Given the description of an element on the screen output the (x, y) to click on. 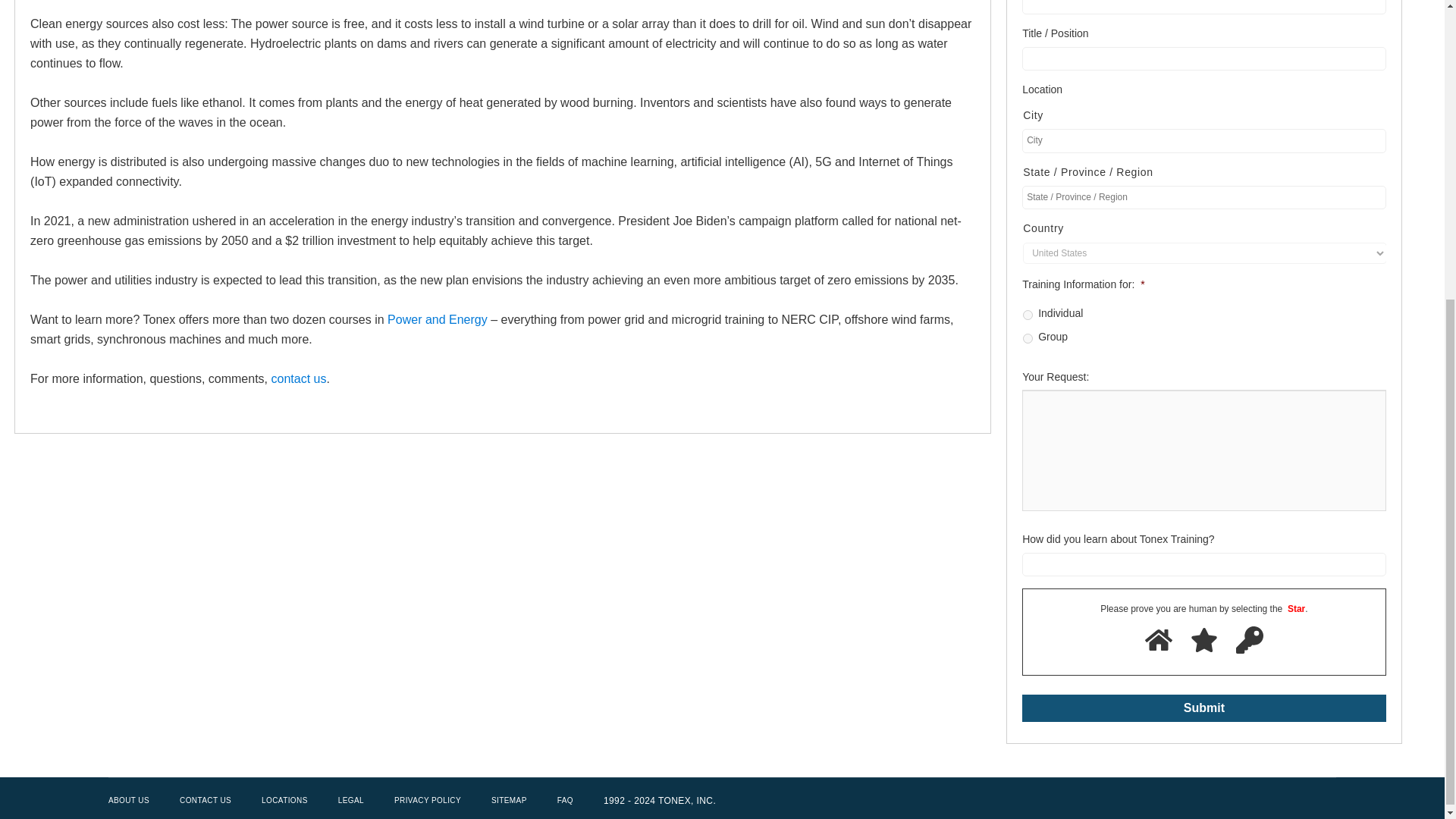
LinkedIn (1296, 800)
Submit (1204, 707)
Group (1027, 338)
Facebook (1270, 800)
Individual (1027, 314)
RSS Feed (1324, 800)
Twitter (1242, 800)
